Given the description of an element on the screen output the (x, y) to click on. 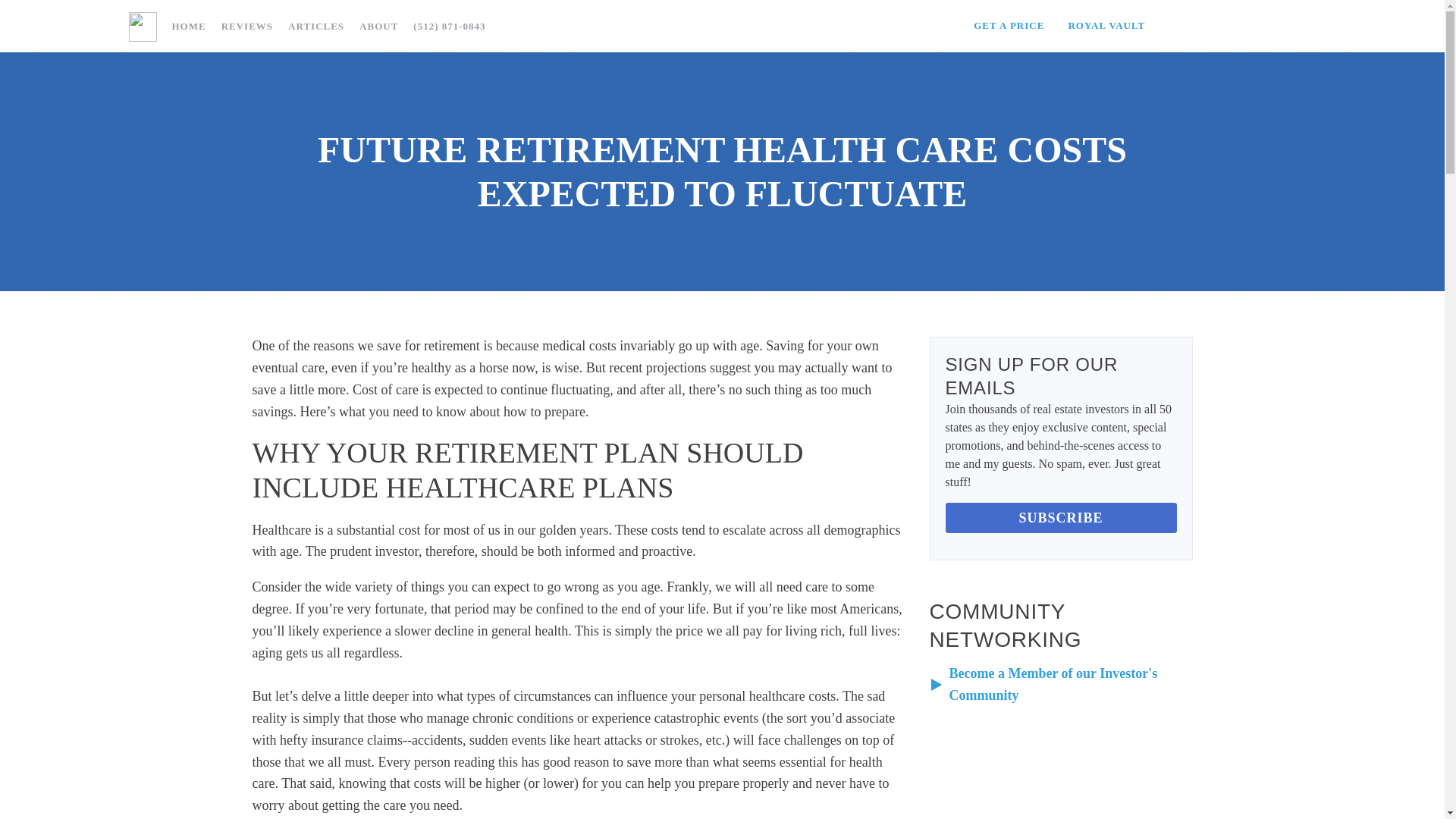
ROYAL VAULT (1105, 26)
ARTICLES (316, 25)
ABOUT (379, 25)
GET A PRICE (1008, 26)
REVIEWS (247, 25)
Become a Member of our Investor's Community (1053, 683)
SUBSCRIBE (1060, 517)
HOME (187, 25)
